Given the description of an element on the screen output the (x, y) to click on. 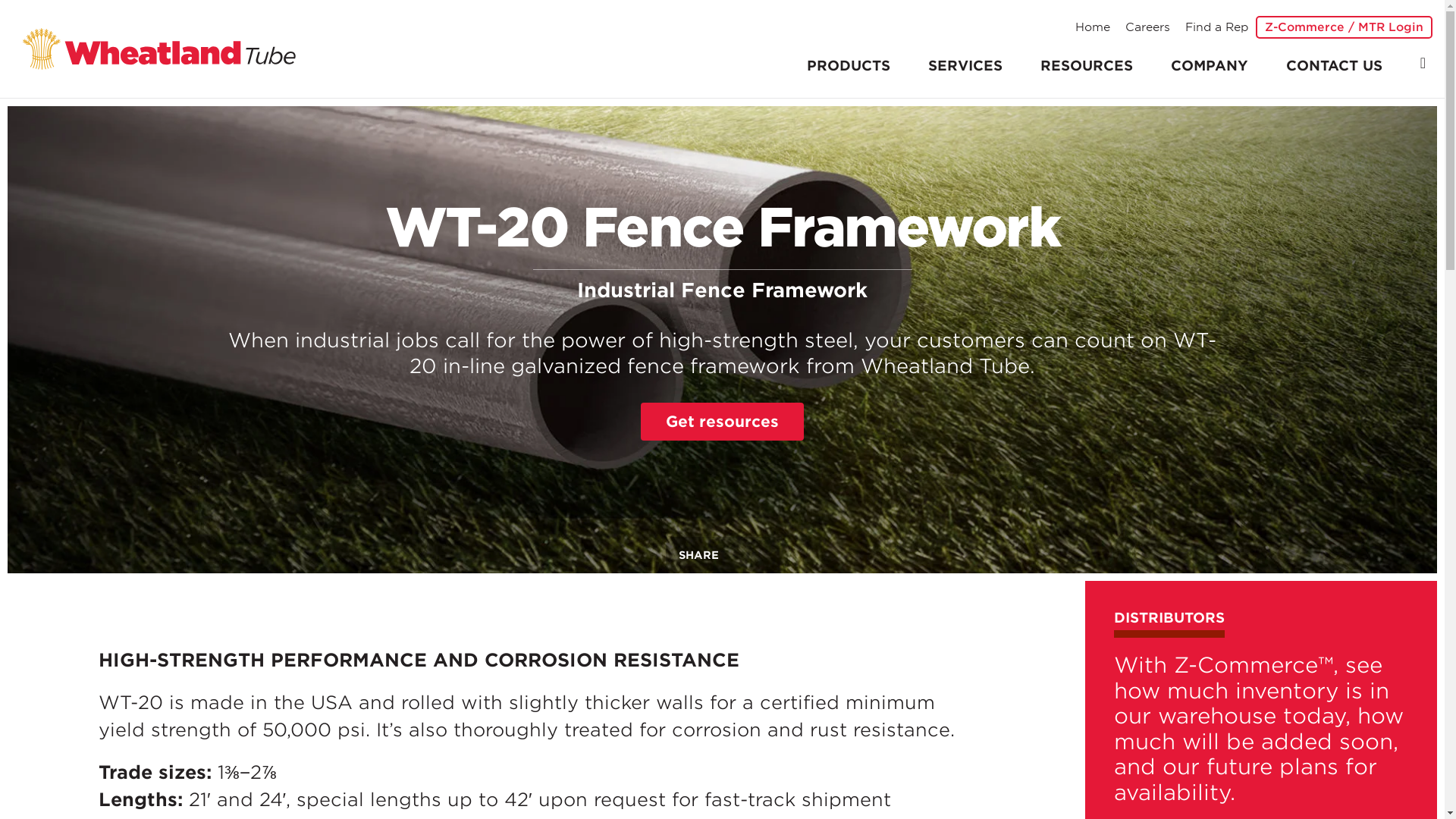
PRODUCTS (847, 64)
CONTACT US (1333, 64)
RESOURCES (1086, 64)
Get resources (721, 421)
Careers (1147, 26)
Find a Rep (1216, 26)
Home (1092, 26)
COMPANY (1208, 64)
SERVICES (965, 64)
